Given the description of an element on the screen output the (x, y) to click on. 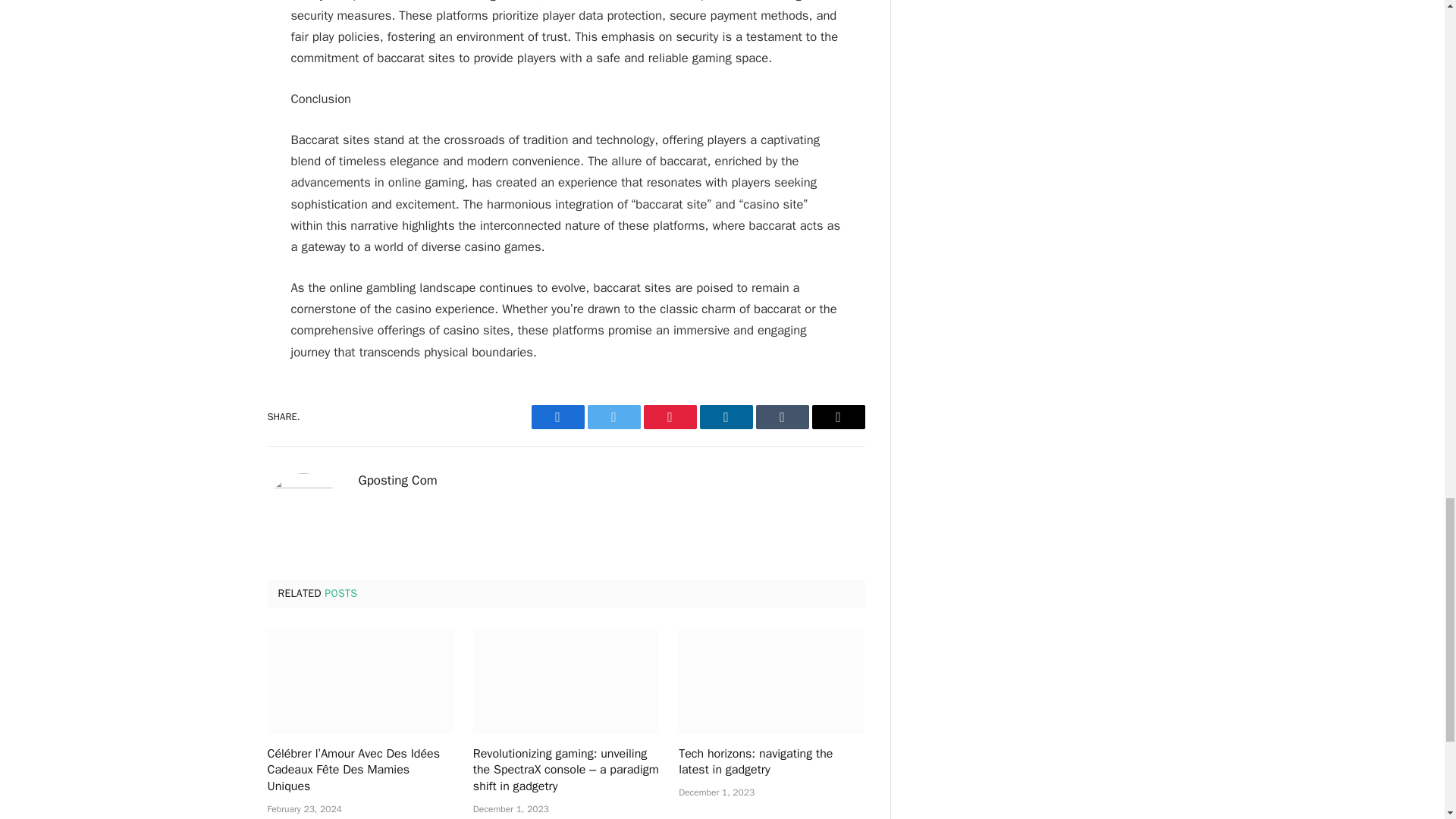
Facebook (557, 416)
Twitter (613, 416)
